Given the description of an element on the screen output the (x, y) to click on. 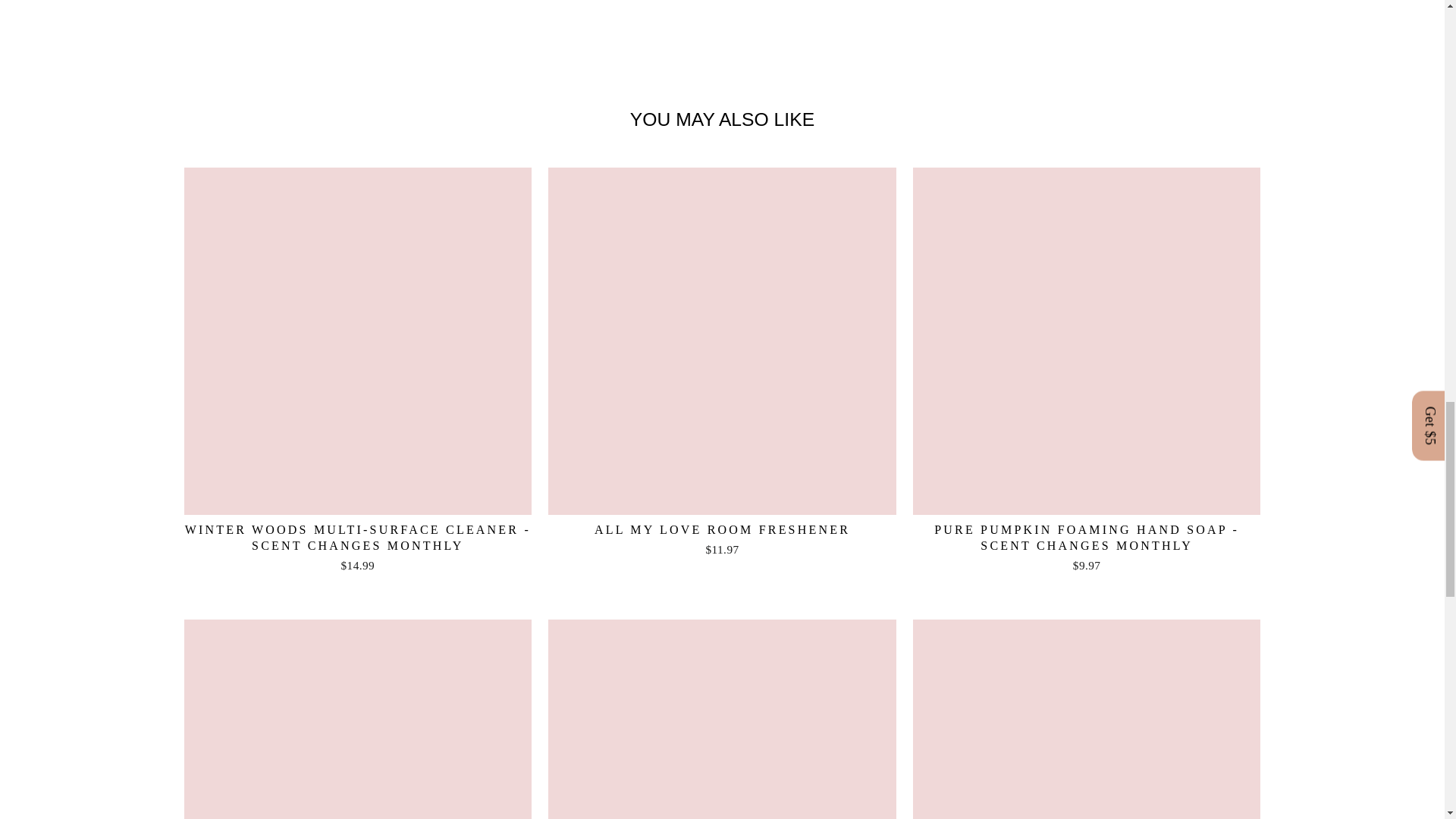
Product reviews widget (722, 27)
